Given the description of an element on the screen output the (x, y) to click on. 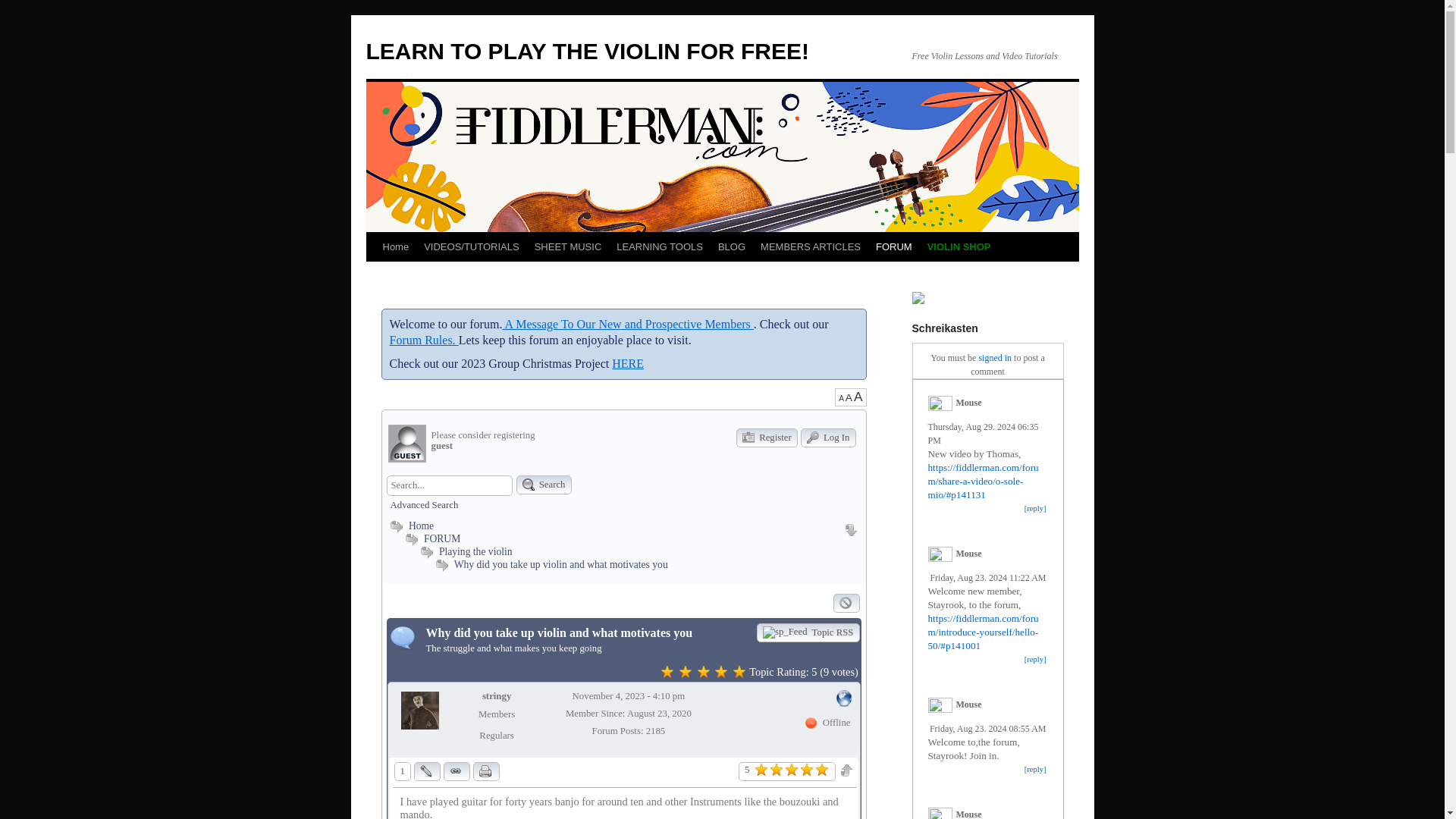
Topic Rating: 5 (667, 672)
No permission to create posts (845, 602)
Home (395, 246)
LEARNING TOOLS (659, 246)
Forum Rules. (424, 339)
Log in and log out (828, 437)
No permission to create posts (844, 603)
Subscribe to the RSS feed for this topic (808, 632)
HERE (627, 363)
Register (766, 437)
